Given the description of an element on the screen output the (x, y) to click on. 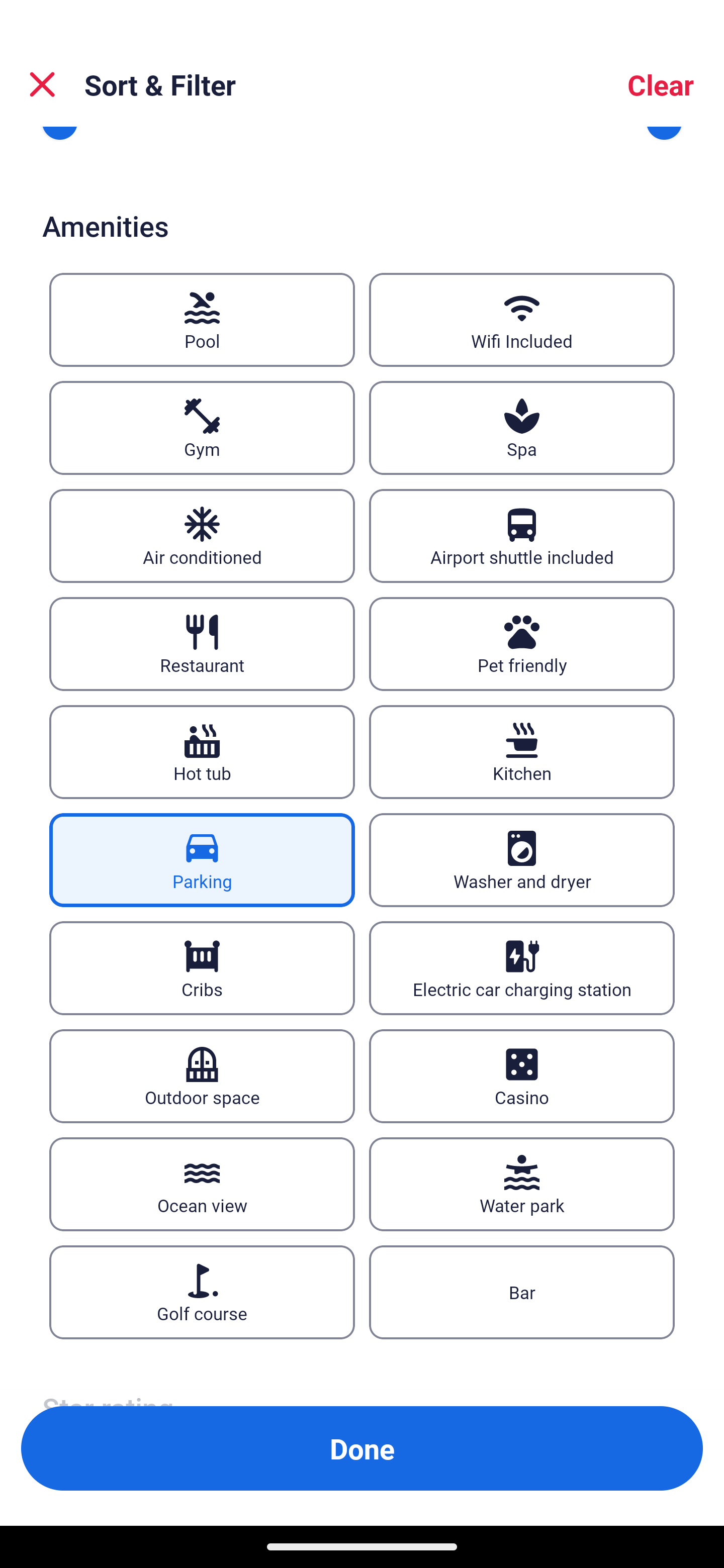
Close Sort and Filter (42, 84)
Clear (660, 84)
Pool (201, 319)
Wifi Included (521, 319)
Gym (201, 428)
Spa (521, 428)
Air conditioned (201, 536)
Airport shuttle included (521, 536)
Restaurant (201, 644)
Pet friendly (521, 644)
Hot tub (201, 752)
Kitchen (521, 752)
Parking (201, 860)
Washer and dryer (521, 860)
Cribs (201, 967)
Electric car charging station (521, 967)
Outdoor space (201, 1075)
Casino (521, 1075)
Ocean view (201, 1183)
Water park (521, 1183)
Golf course (201, 1291)
Bar (521, 1291)
Apply and close Sort and Filter Done (361, 1448)
